Given the description of an element on the screen output the (x, y) to click on. 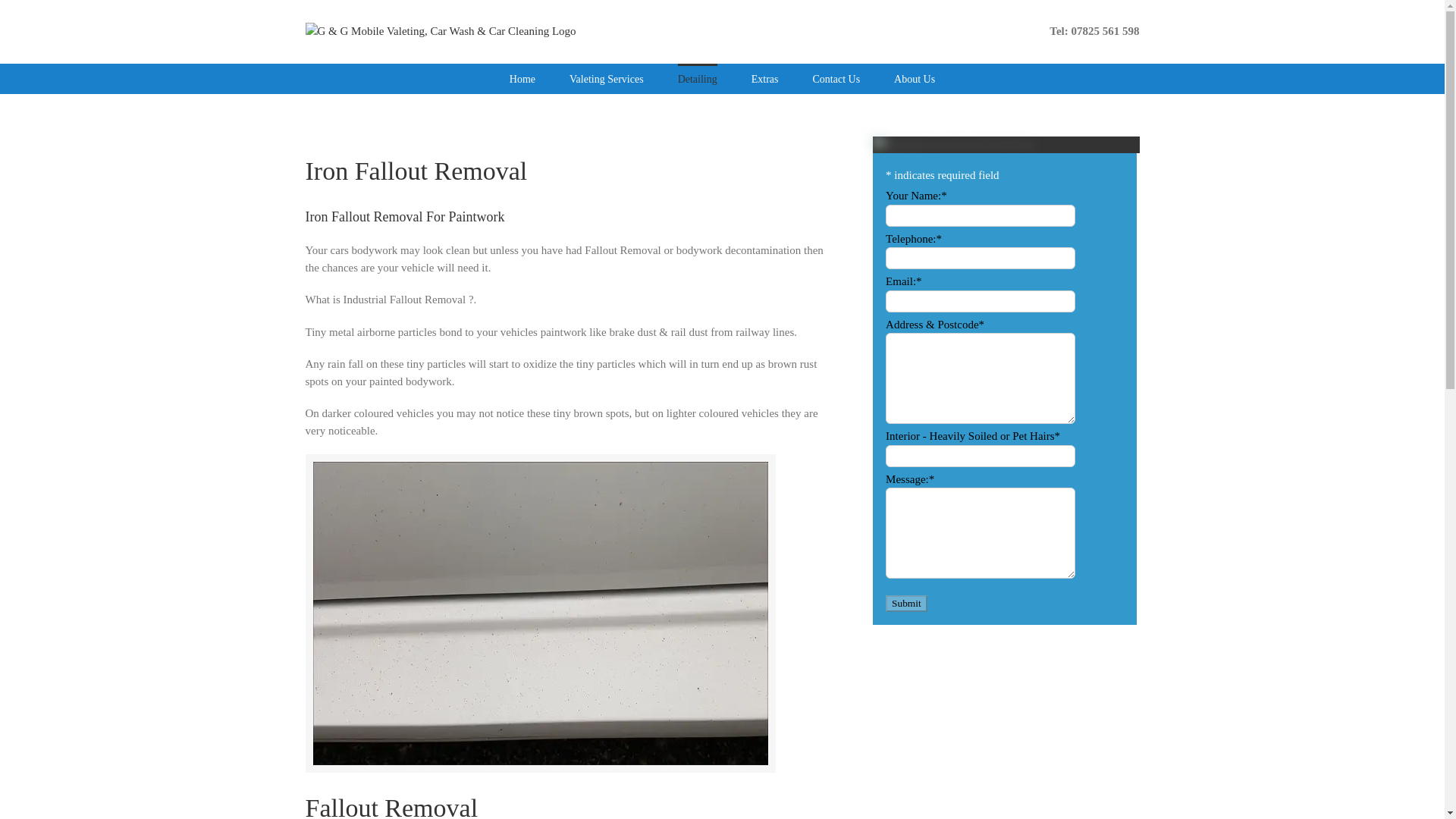
Valeting Services (606, 78)
Extras (764, 78)
Contact Us (836, 78)
Detailing (697, 78)
About Us (913, 78)
Submit (906, 603)
Submit (906, 603)
